Given the description of an element on the screen output the (x, y) to click on. 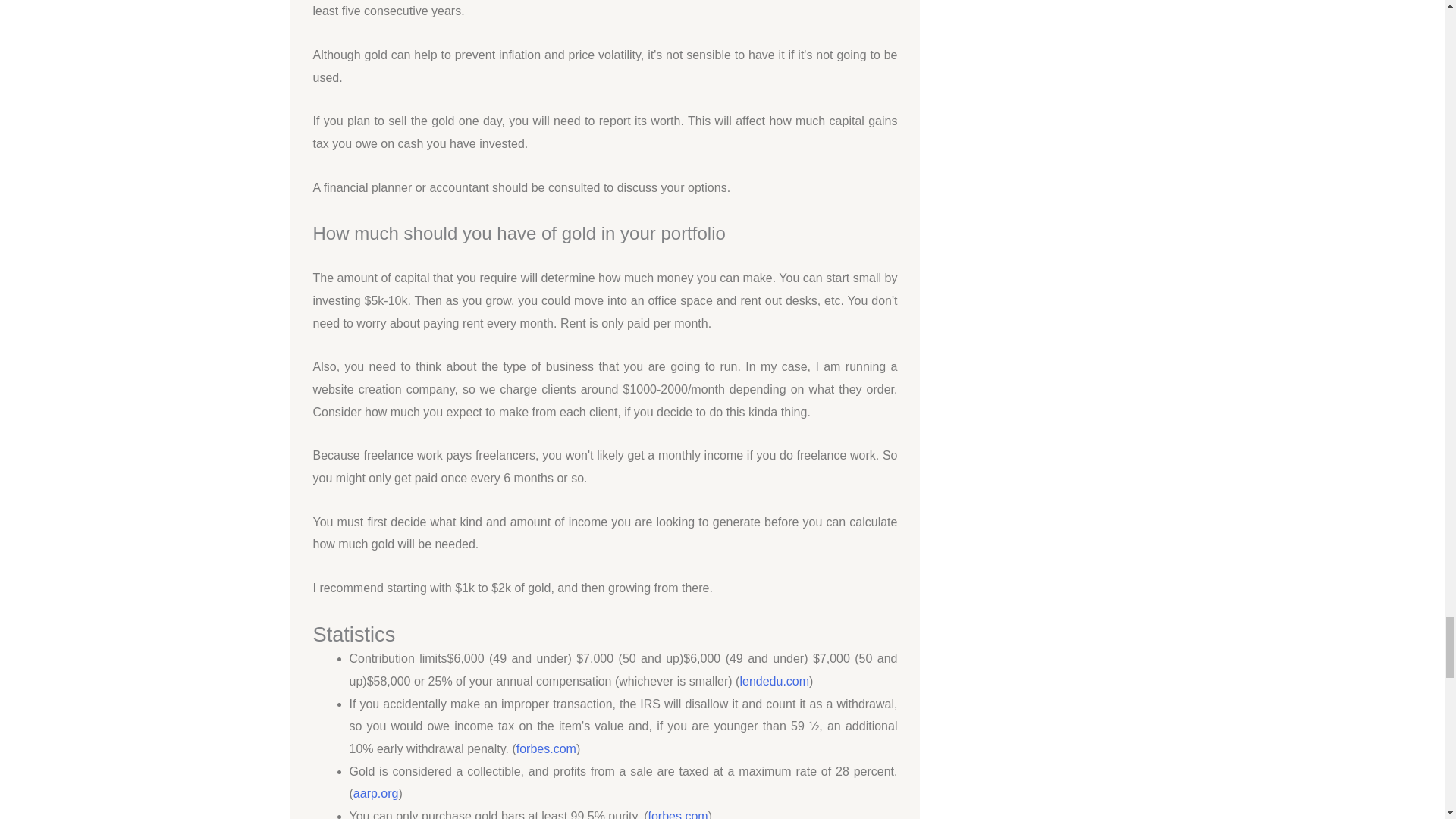
lendedu.com (774, 680)
forbes.com (677, 814)
forbes.com (546, 748)
aarp.org (375, 793)
